Given the description of an element on the screen output the (x, y) to click on. 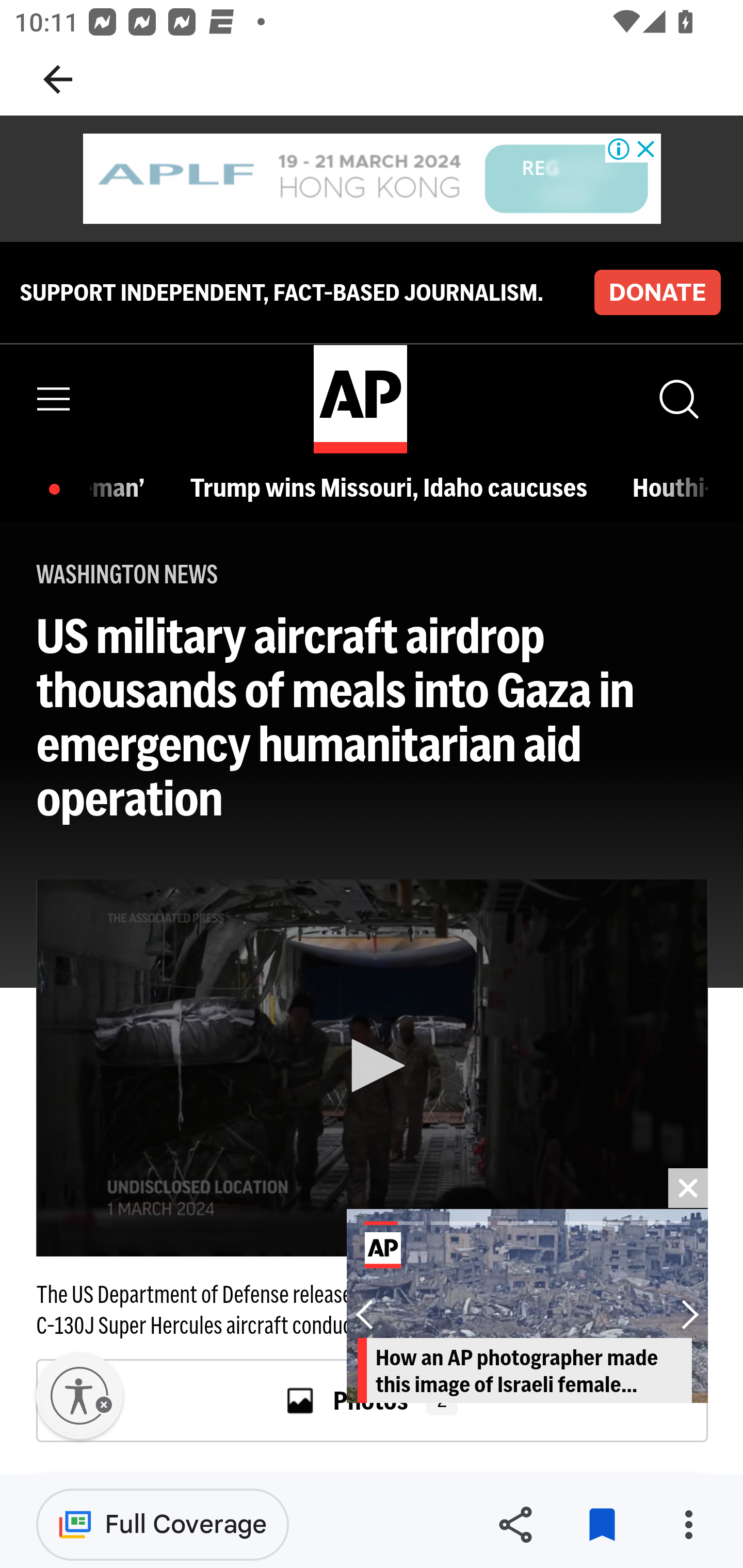
Navigate up (57, 79)
DONATE (657, 291)
home page AP Logo (359, 398)
Menu (54, 398)
Show Search (677, 398)
Adam Sandler in ‘Spaceman’ (122, 487)
Trump wins Missouri, Idaho caucuses (393, 487)
Houthi-hit ship sinks in Red Sea (670, 487)
Play (372, 1066)
Enable accessibility (79, 1395)
Share (514, 1524)
Remove from saved stories (601, 1524)
More options (688, 1524)
Full Coverage (162, 1524)
